Given the description of an element on the screen output the (x, y) to click on. 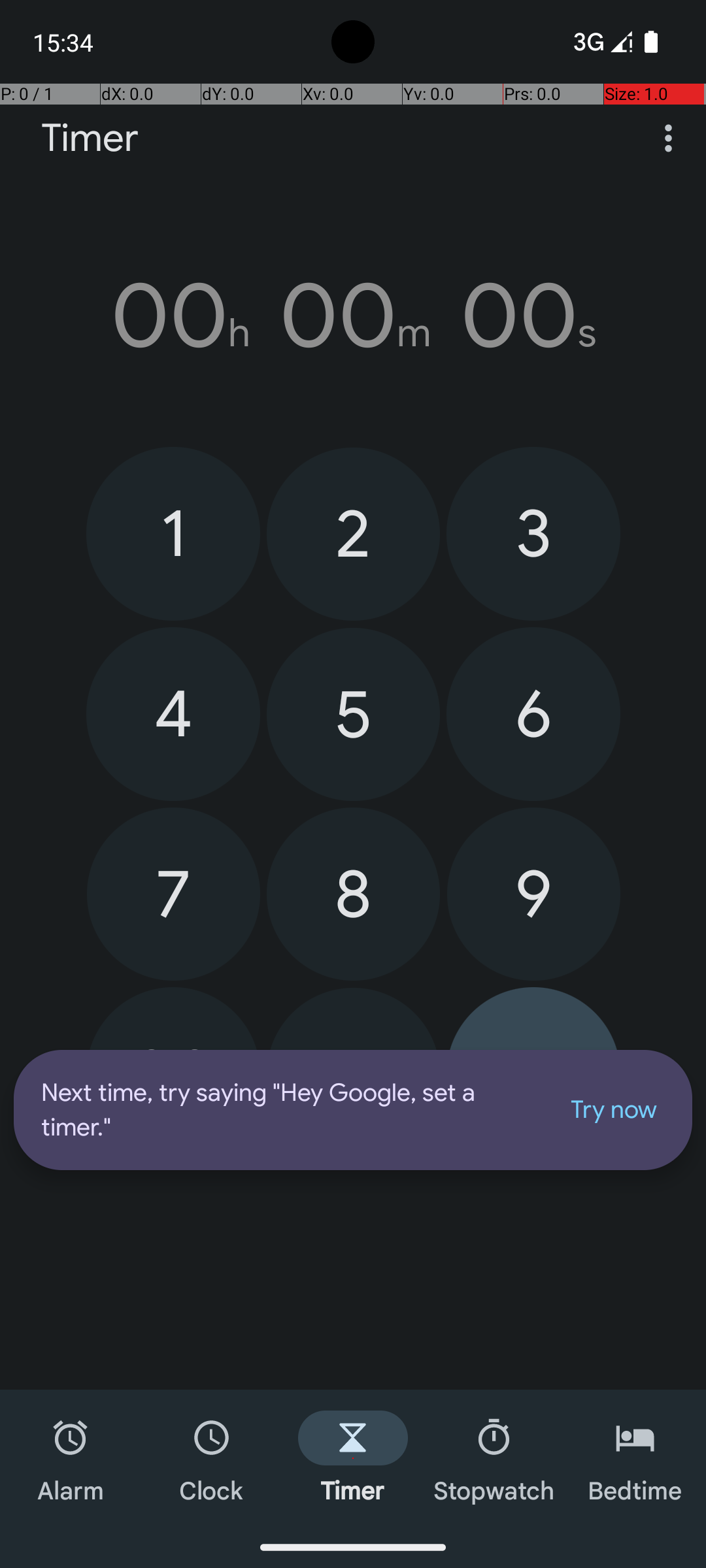
Next time, try saying "Hey Google, set a timer." Element type: android.widget.TextView (288, 1109)
Try now Element type: android.widget.Button (613, 1109)
